Given the description of an element on the screen output the (x, y) to click on. 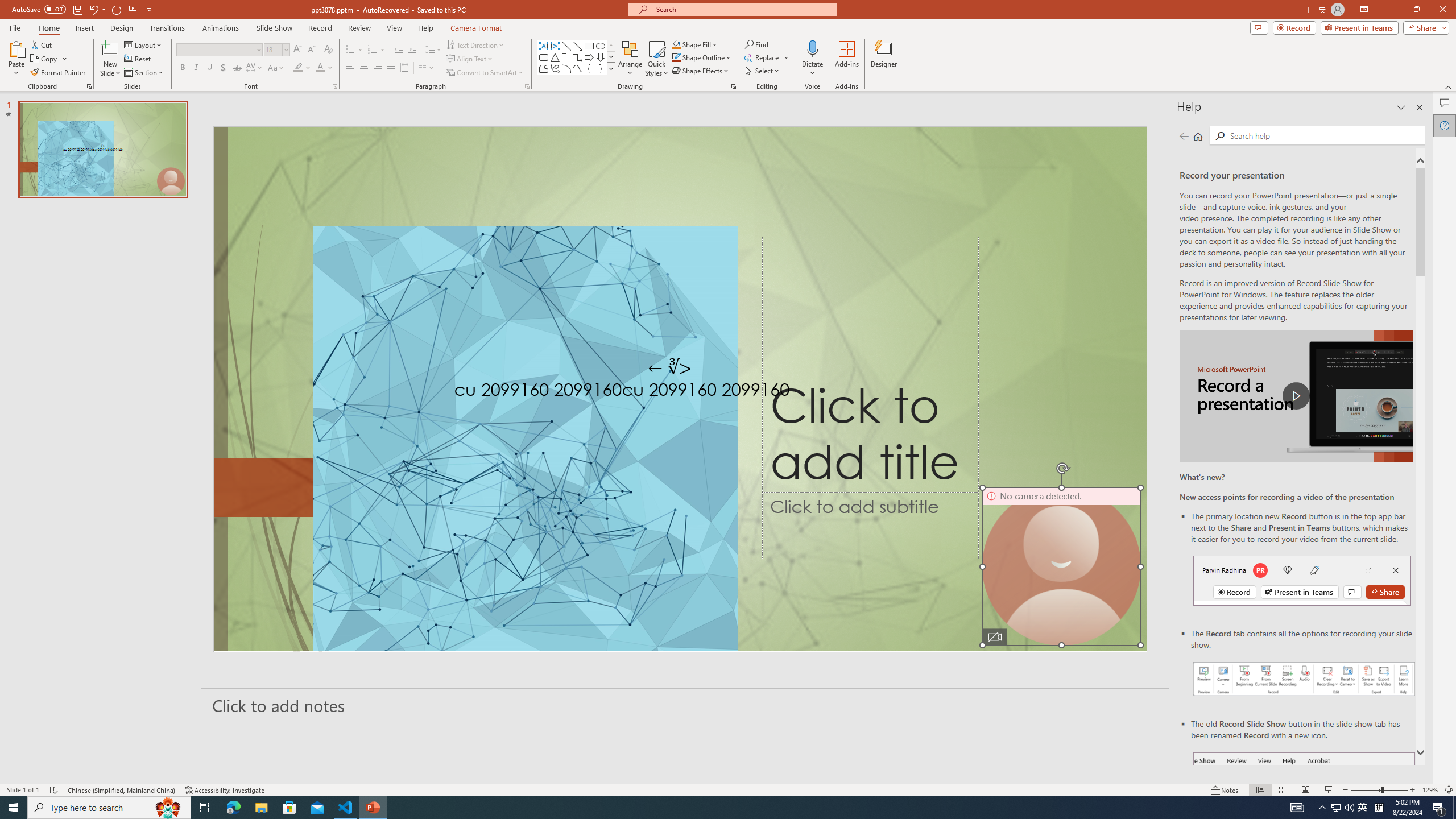
Zoom 129% (1430, 790)
